Given the description of an element on the screen output the (x, y) to click on. 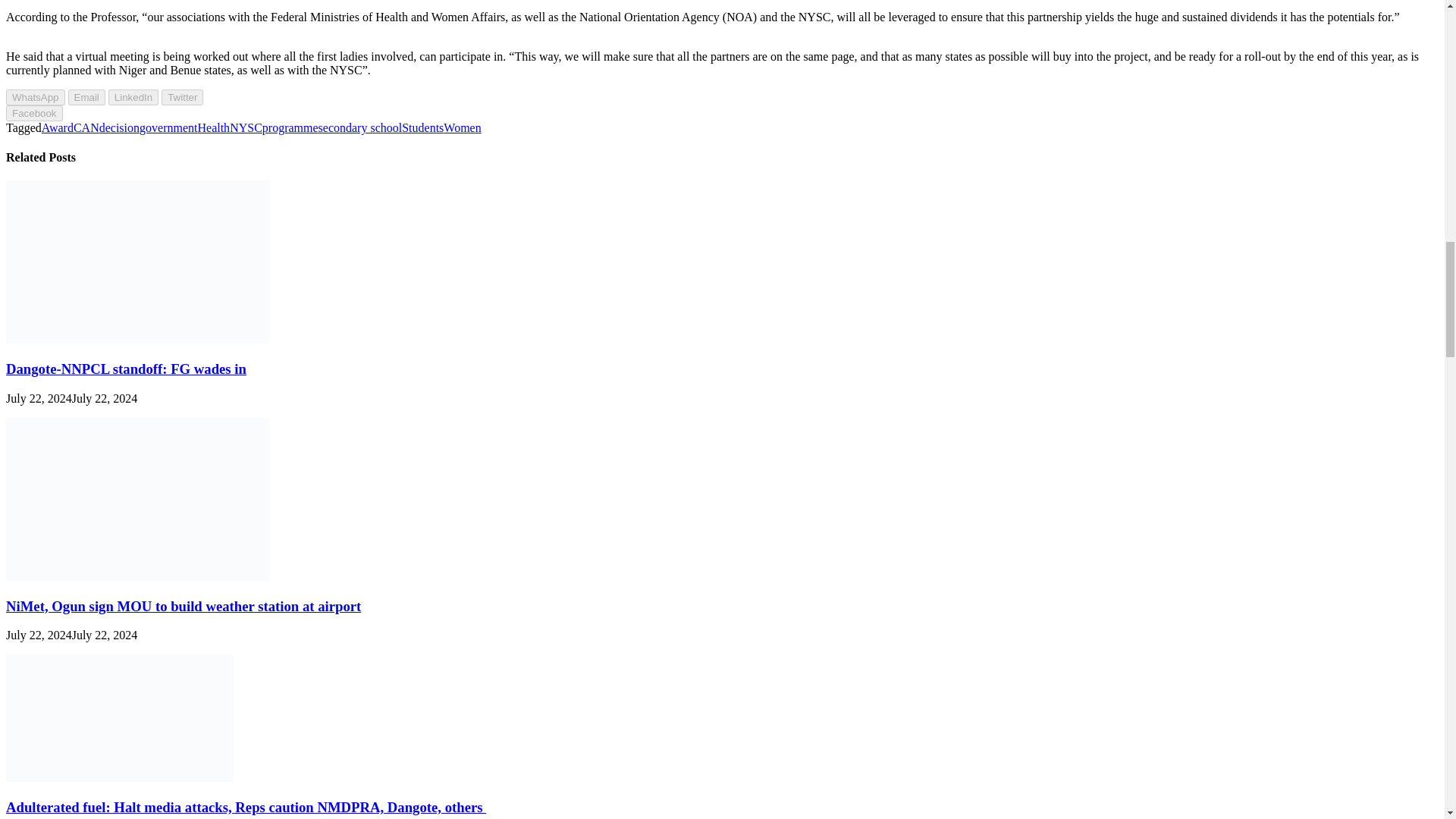
NiMet, Ogun sign MOU to build weather station at airport (183, 605)
Dangote-NNPCL standoff: FG wades in (125, 368)
Dangote-NNPCL standoff: FG wades in (137, 338)
NiMet, Ogun sign MOU to build weather station at airport (137, 576)
